Given the description of an element on the screen output the (x, y) to click on. 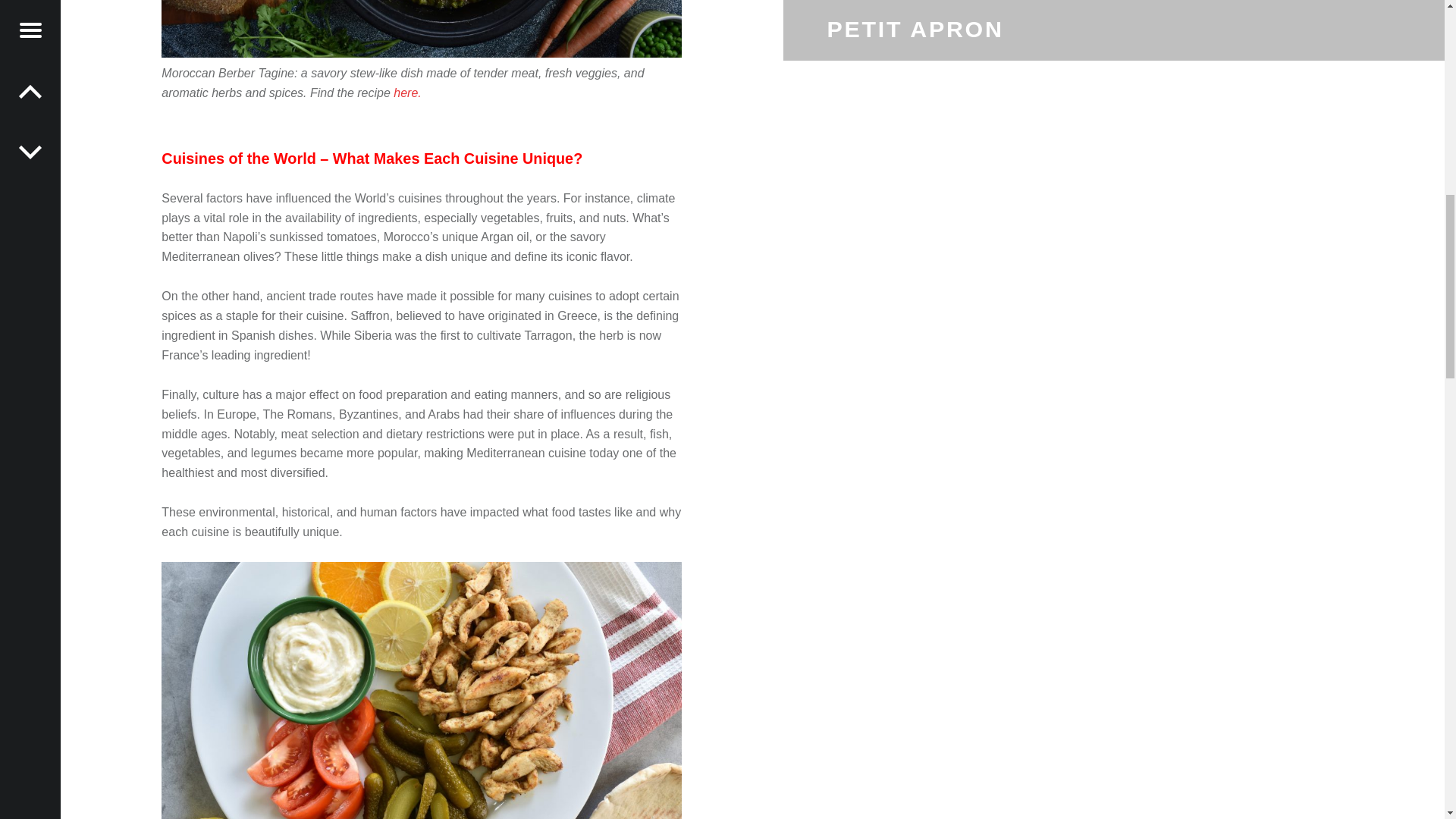
here. (406, 92)
